Given the description of an element on the screen output the (x, y) to click on. 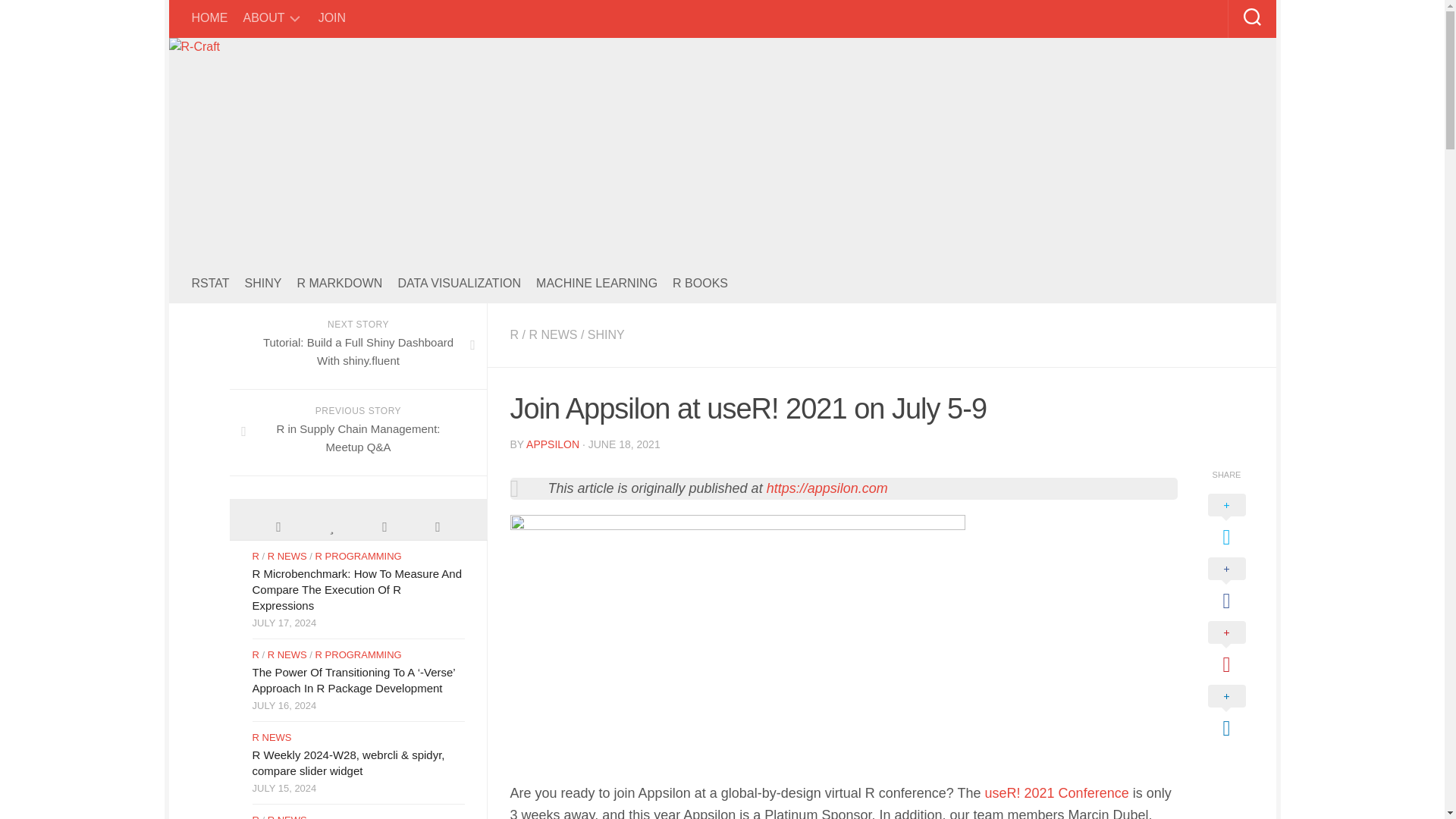
MACHINE LEARNING (596, 283)
SHINY (263, 283)
Recent Posts (277, 525)
R BOOKS (700, 283)
R MARKDOWN (339, 283)
SHINY (606, 334)
Recent Comments (384, 525)
ABOUT (263, 17)
JOIN (332, 17)
APPSILON (552, 444)
Posts by Appsilon (552, 444)
R NEWS (552, 334)
RSTAT (209, 283)
DATA VISUALIZATION (459, 283)
useR! 2021 Conference (1057, 792)
